Given the description of an element on the screen output the (x, y) to click on. 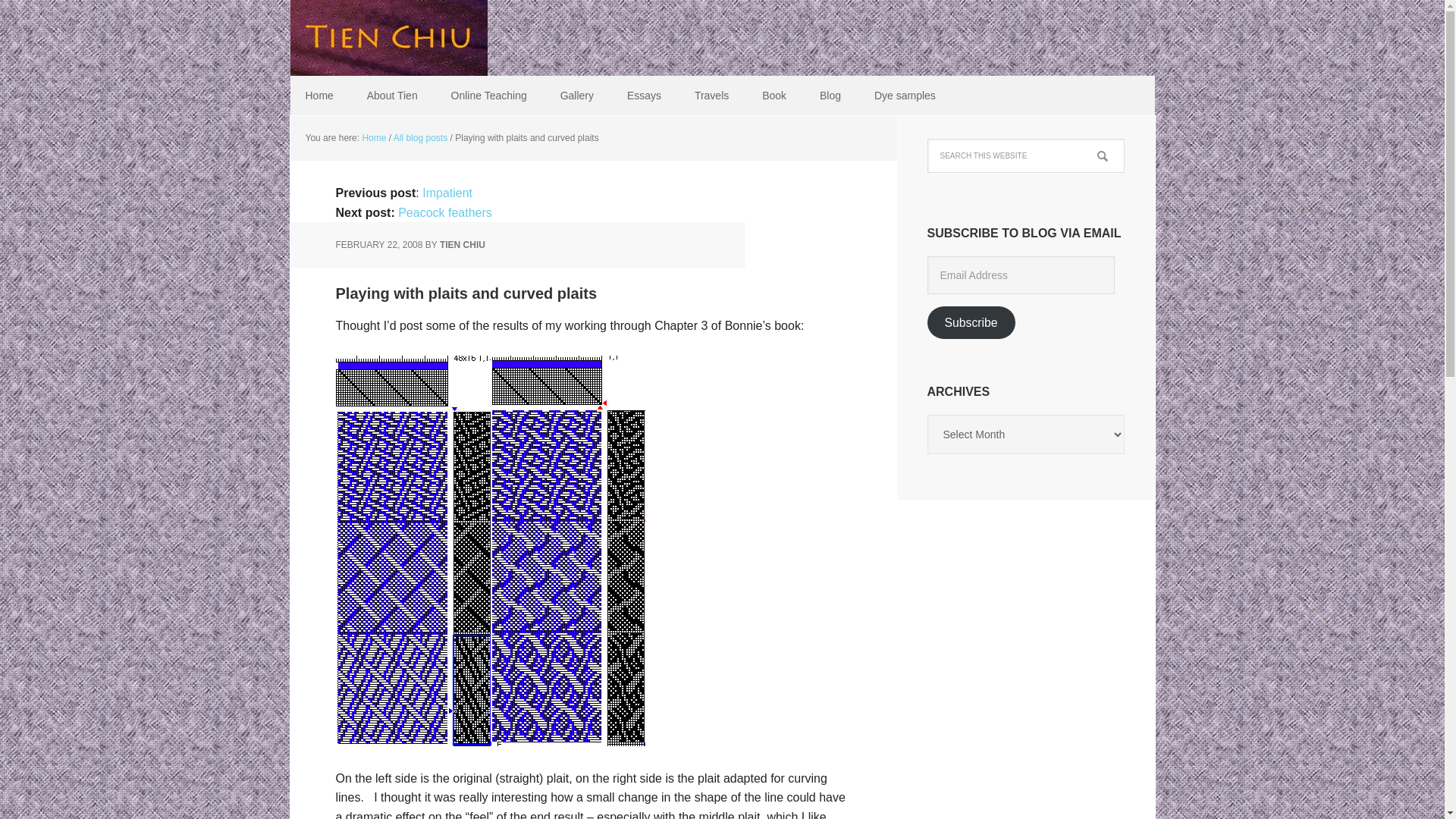
Tien Chiu (387, 38)
Travels (711, 96)
plaits-and-curved-plaits.jpg (489, 738)
Book (774, 96)
Dye samples (904, 96)
Home (318, 96)
Home (373, 137)
TIEN CHIU (461, 244)
Subscribe (970, 322)
Peacock feathers (444, 212)
Online Teaching (488, 96)
Blog (830, 96)
Essays (644, 96)
